Given the description of an element on the screen output the (x, y) to click on. 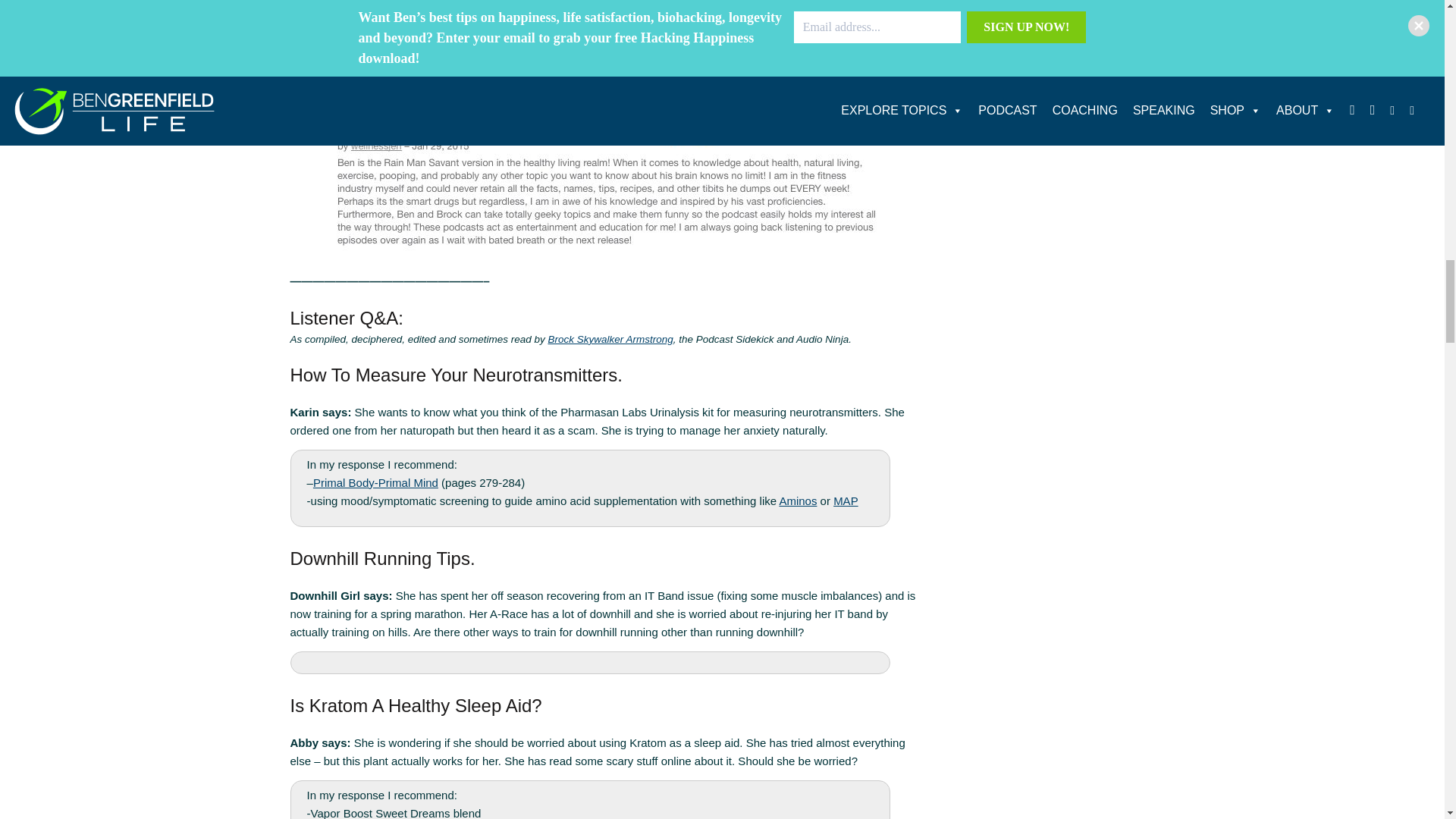
Brock Skywalker Armstrong (609, 338)
